Given the description of an element on the screen output the (x, y) to click on. 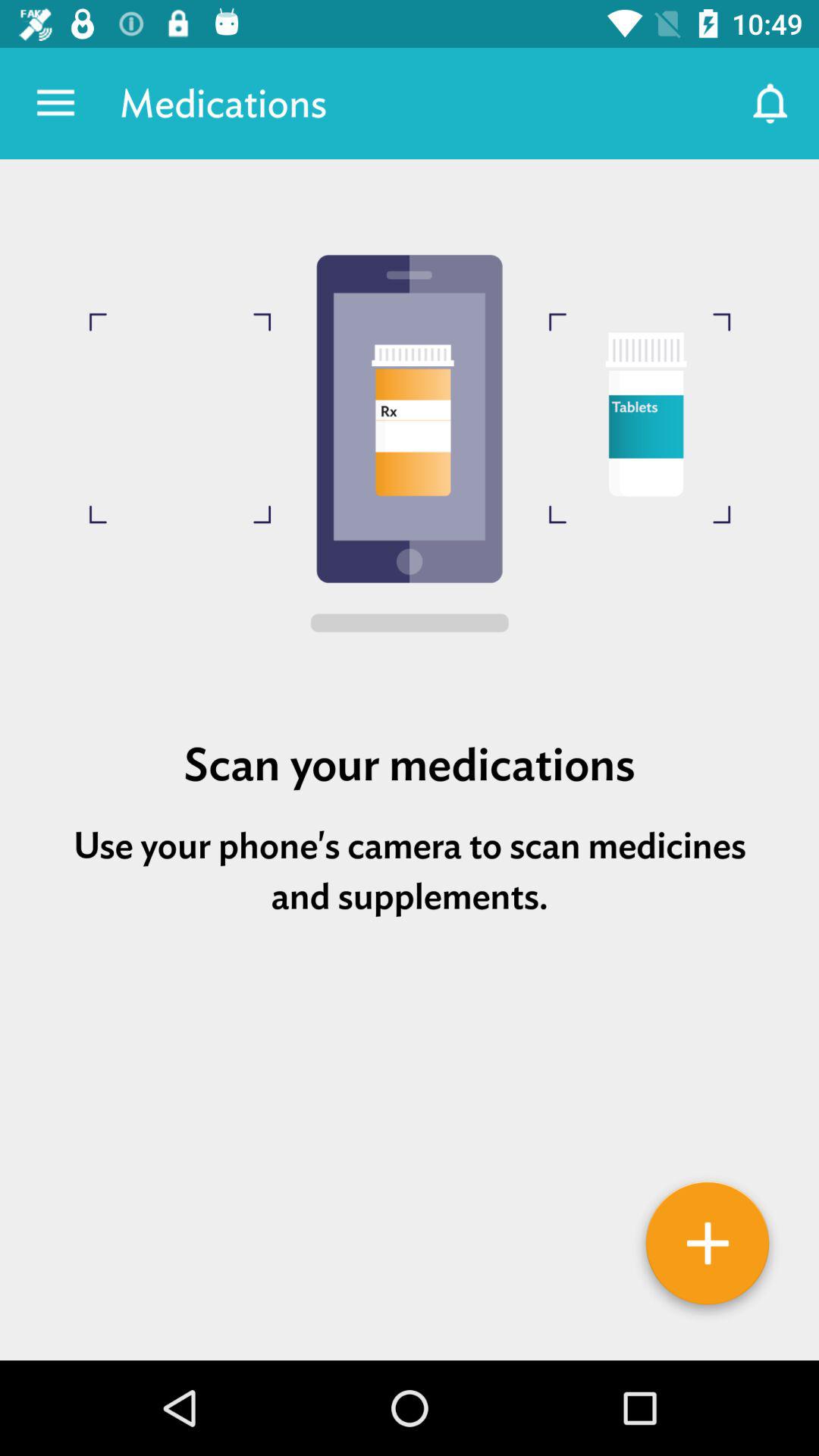
go to add (707, 1248)
